Given the description of an element on the screen output the (x, y) to click on. 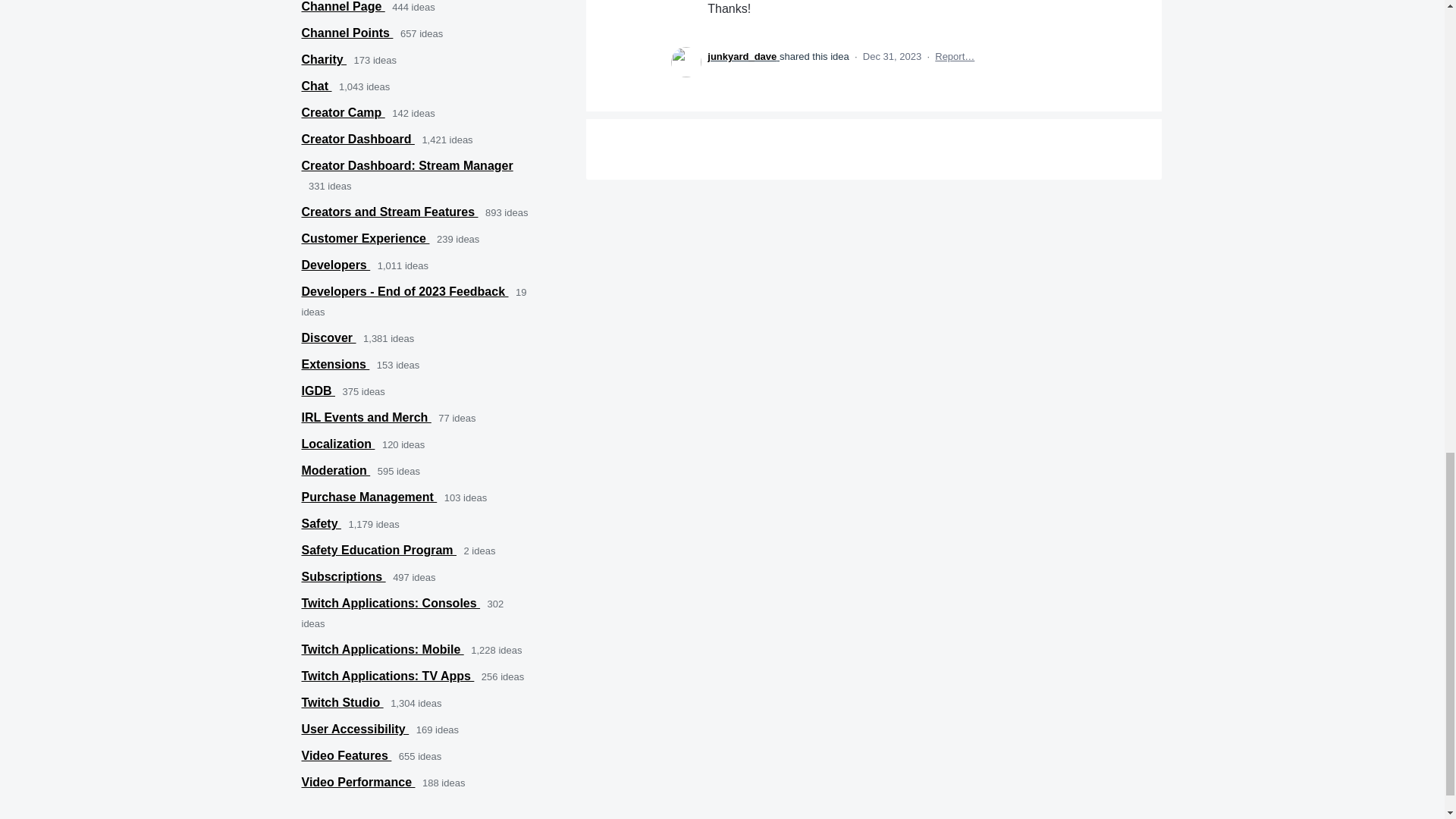
Discover (328, 337)
Customer Experience (365, 237)
View all ideas in Channel Points (347, 32)
Extensions (335, 364)
Charity (324, 59)
View all ideas in Charity (324, 59)
Creators and Stream Features (390, 211)
Channel Points (347, 32)
Creator Camp (343, 112)
Chat (316, 85)
